Given the description of an element on the screen output the (x, y) to click on. 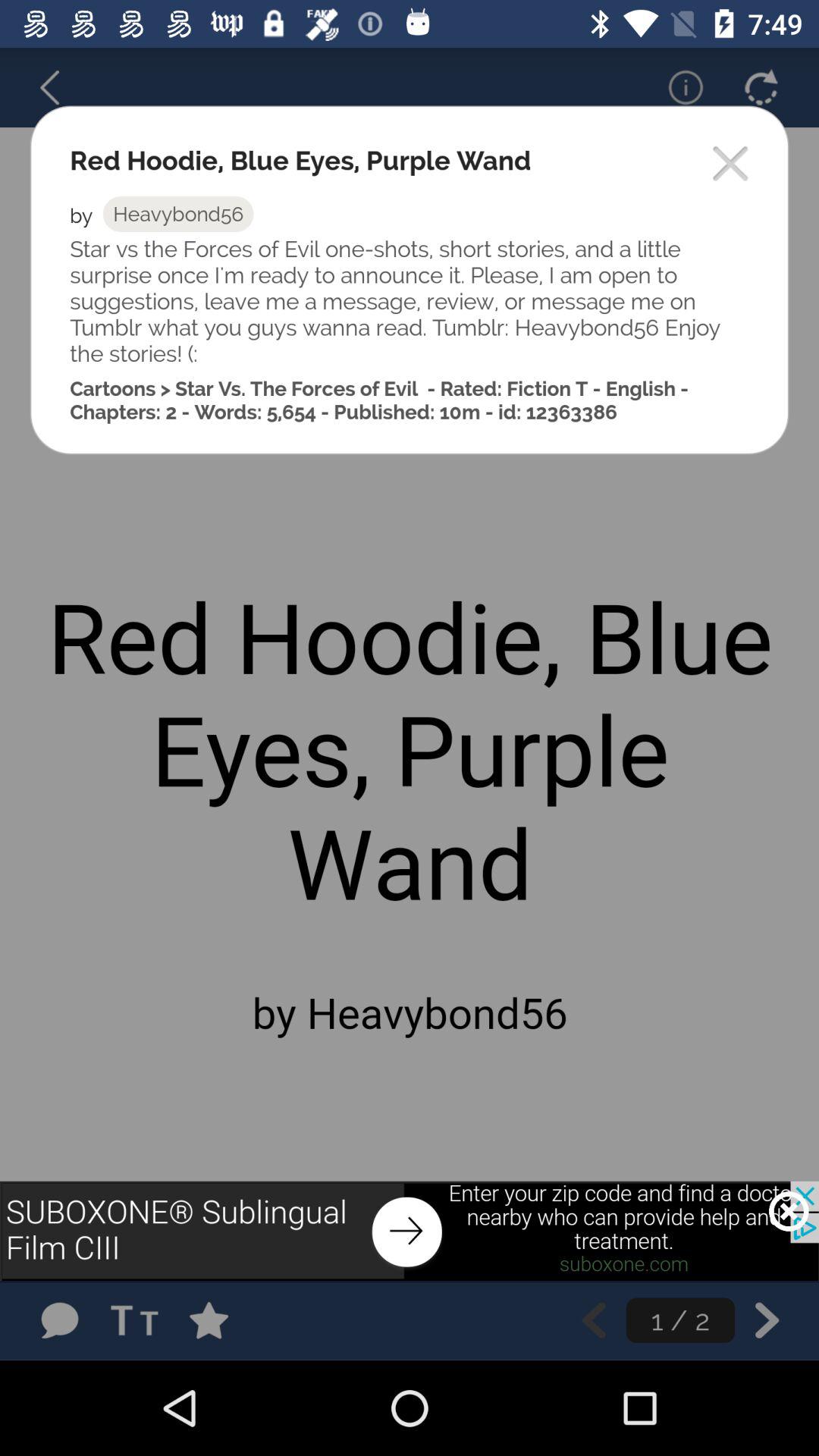
click to x out (788, 1211)
